Given the description of an element on the screen output the (x, y) to click on. 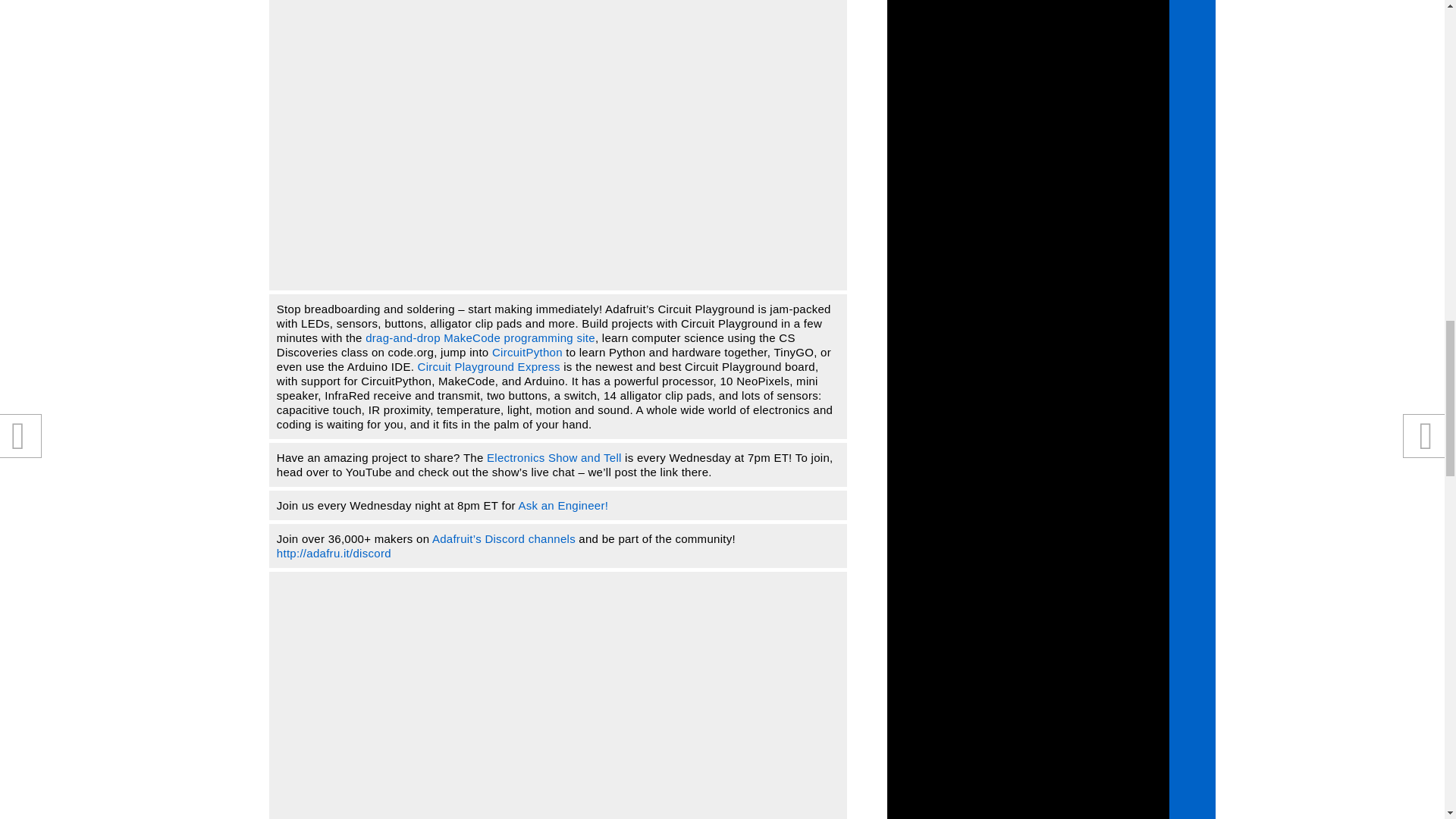
ASK AN ENGINEER (563, 504)
